Given the description of an element on the screen output the (x, y) to click on. 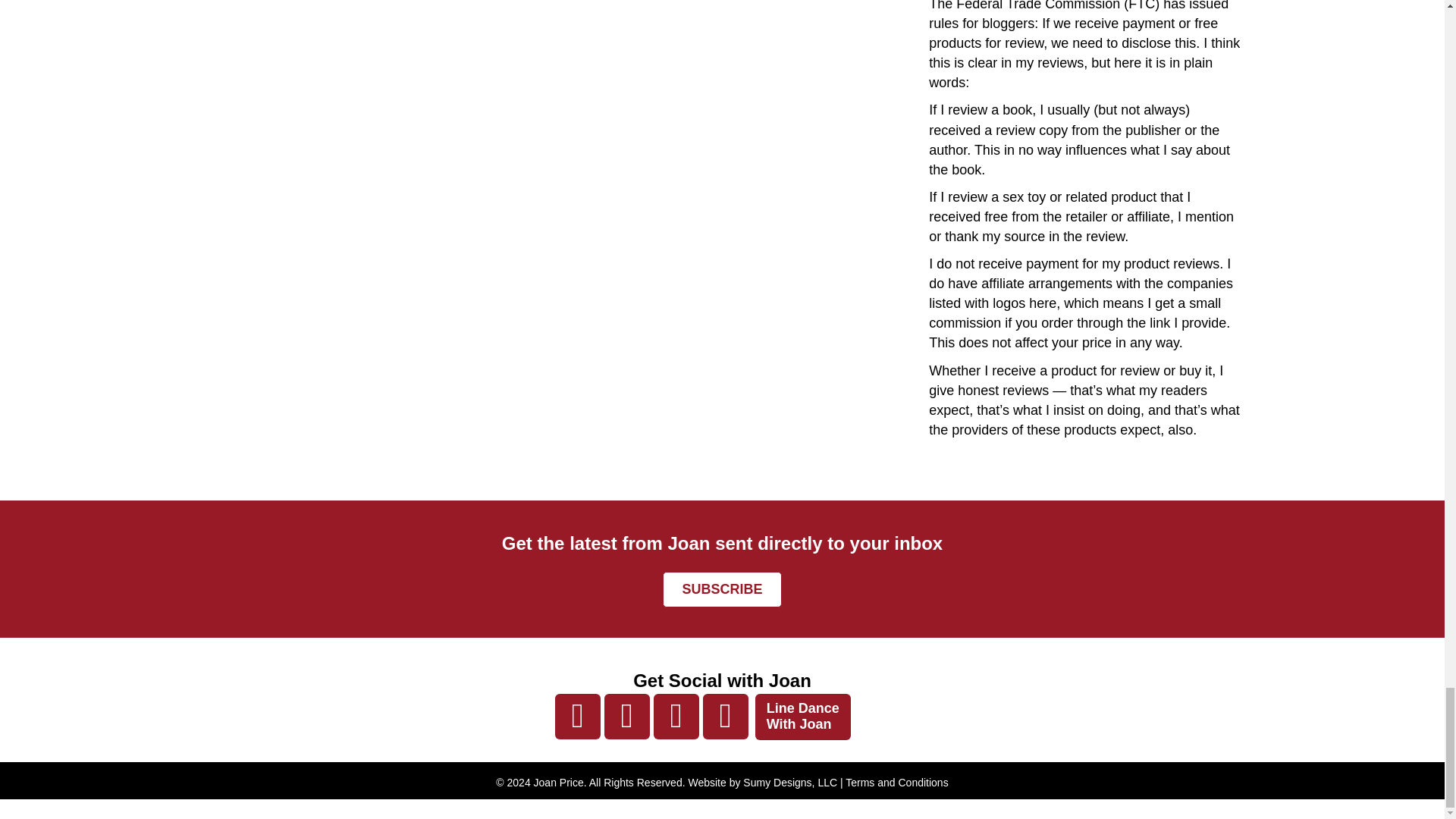
Facebook (576, 716)
YouTube (675, 716)
Twitter (626, 716)
